Given the description of an element on the screen output the (x, y) to click on. 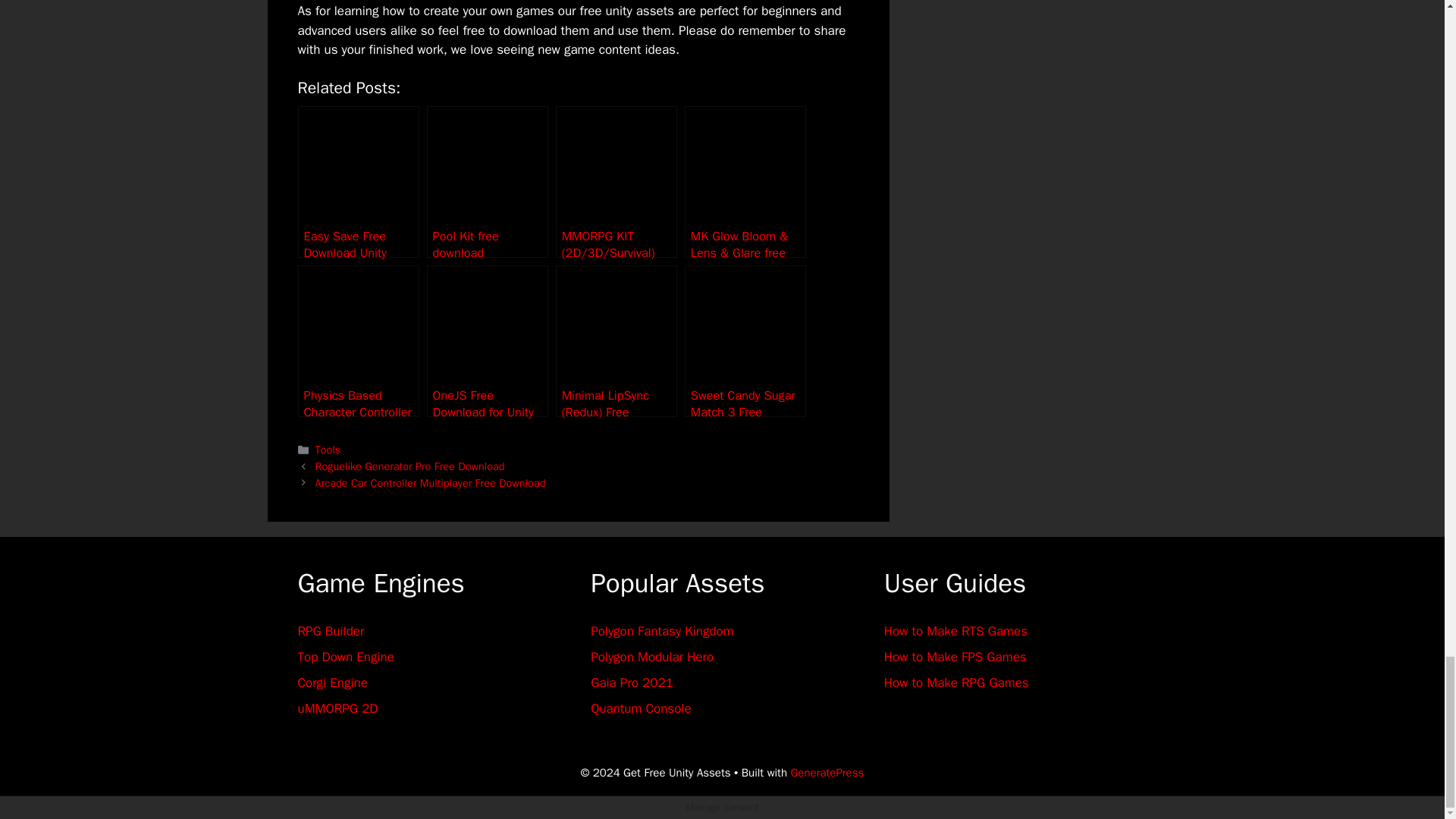
Tools (327, 449)
Roguelike Generator Pro Free Download (410, 466)
Arcade Car Controller Multiplayer Free Download (430, 482)
